Given the description of an element on the screen output the (x, y) to click on. 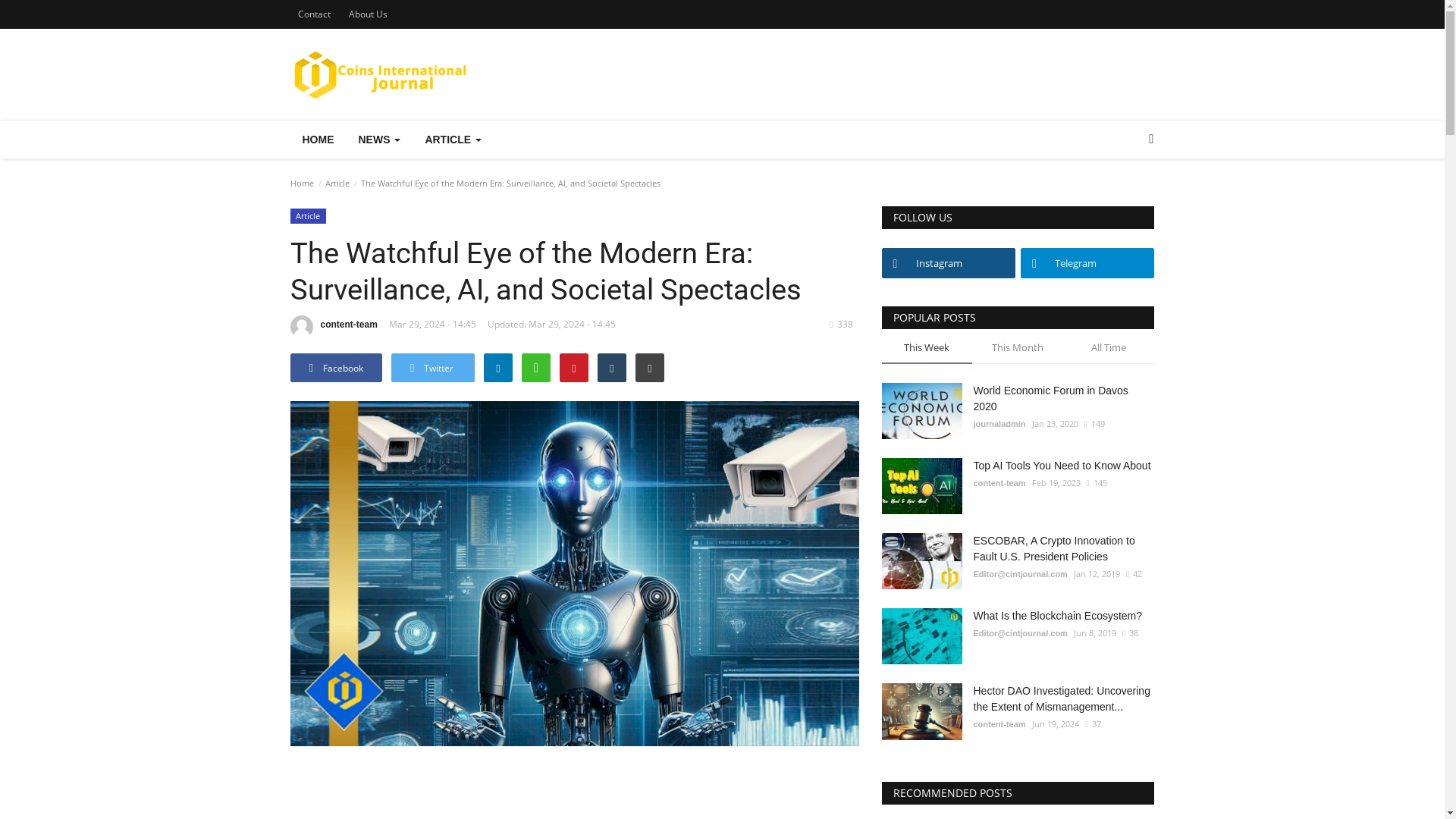
Contact (313, 14)
YouTube video player (574, 788)
ARTICLE (452, 139)
About Us (367, 14)
NEWS (379, 139)
HOME (317, 139)
